Given the description of an element on the screen output the (x, y) to click on. 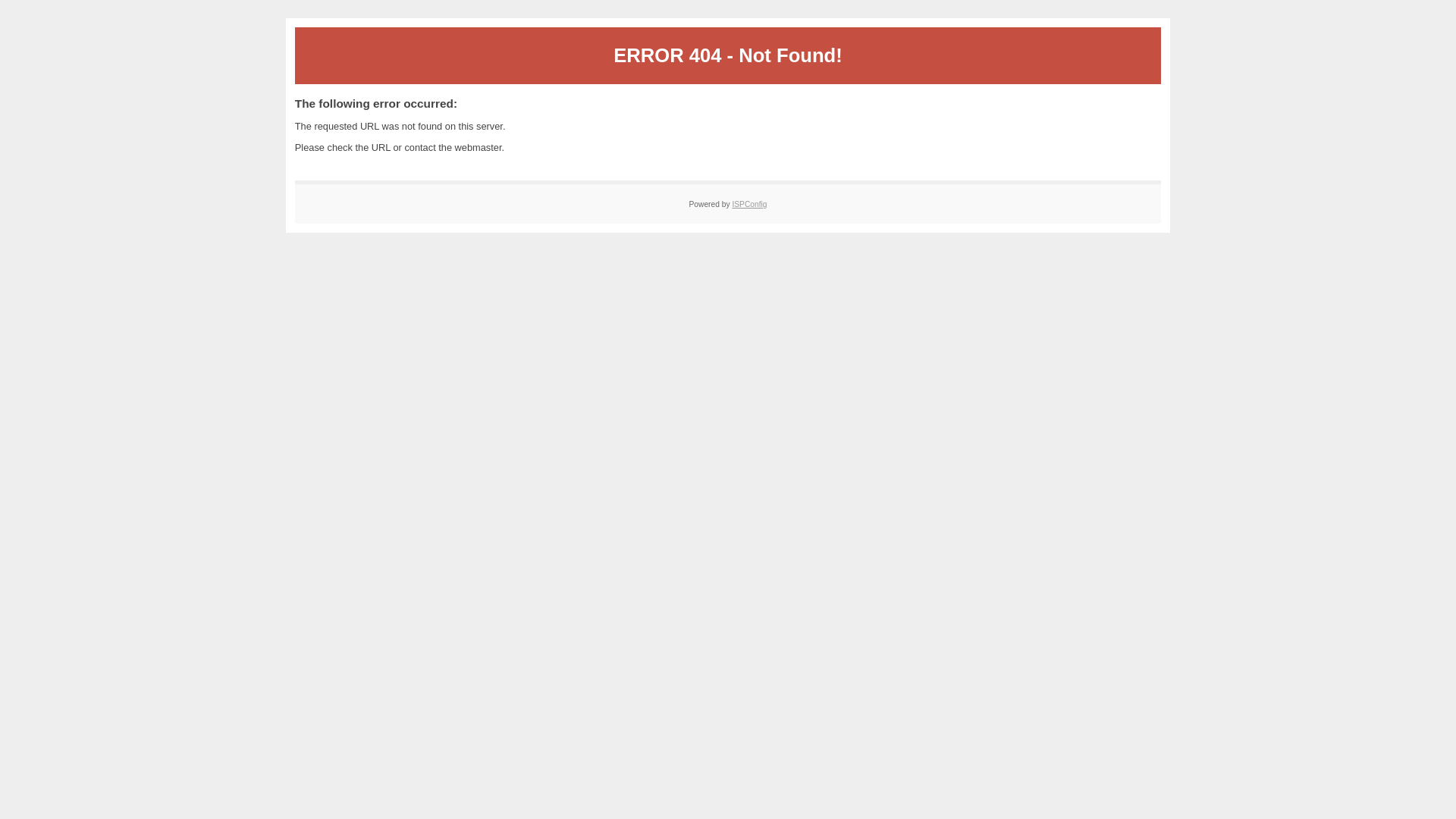
ISPConfig Element type: text (748, 204)
